Given the description of an element on the screen output the (x, y) to click on. 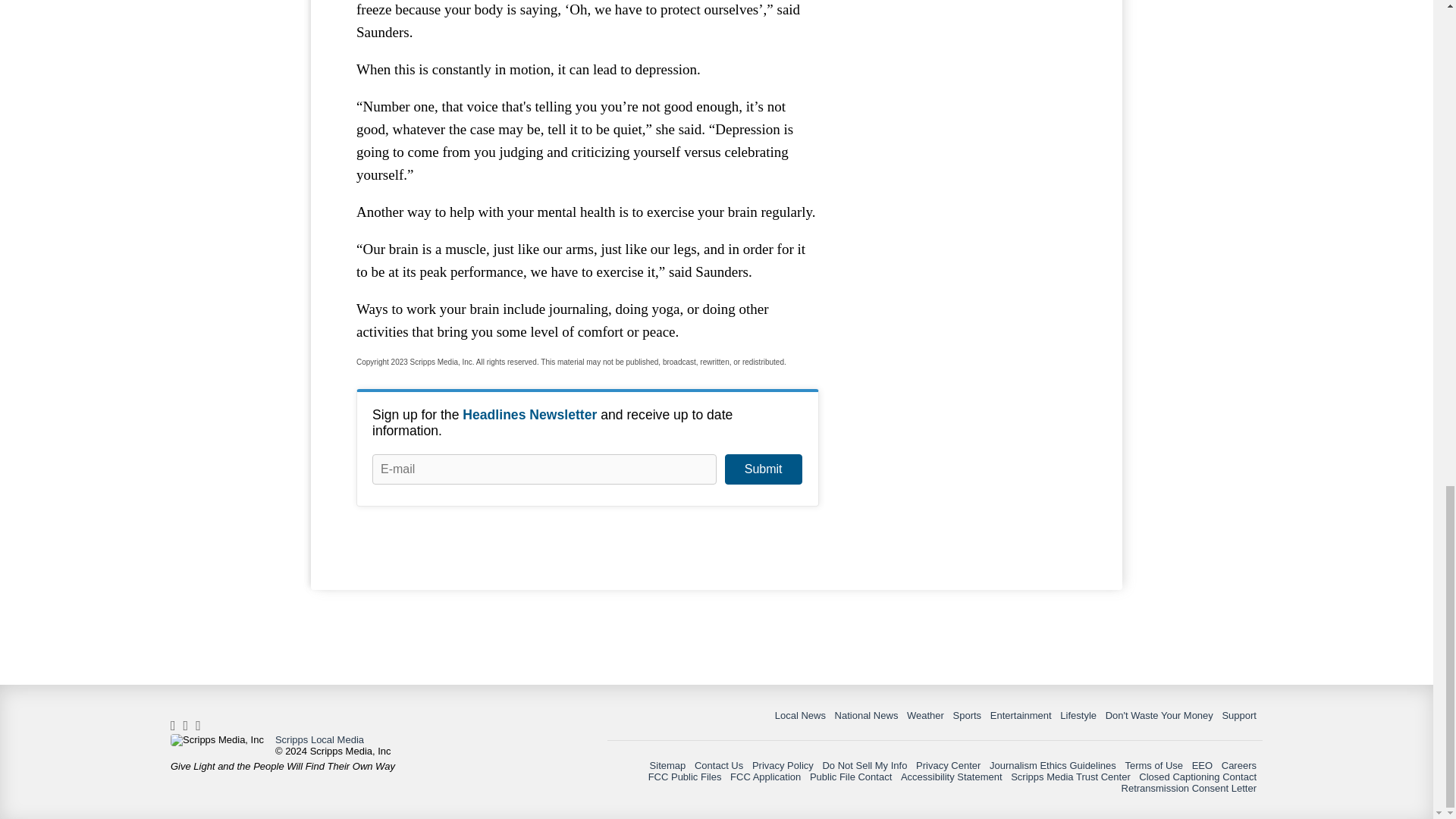
Submit (763, 469)
